Given the description of an element on the screen output the (x, y) to click on. 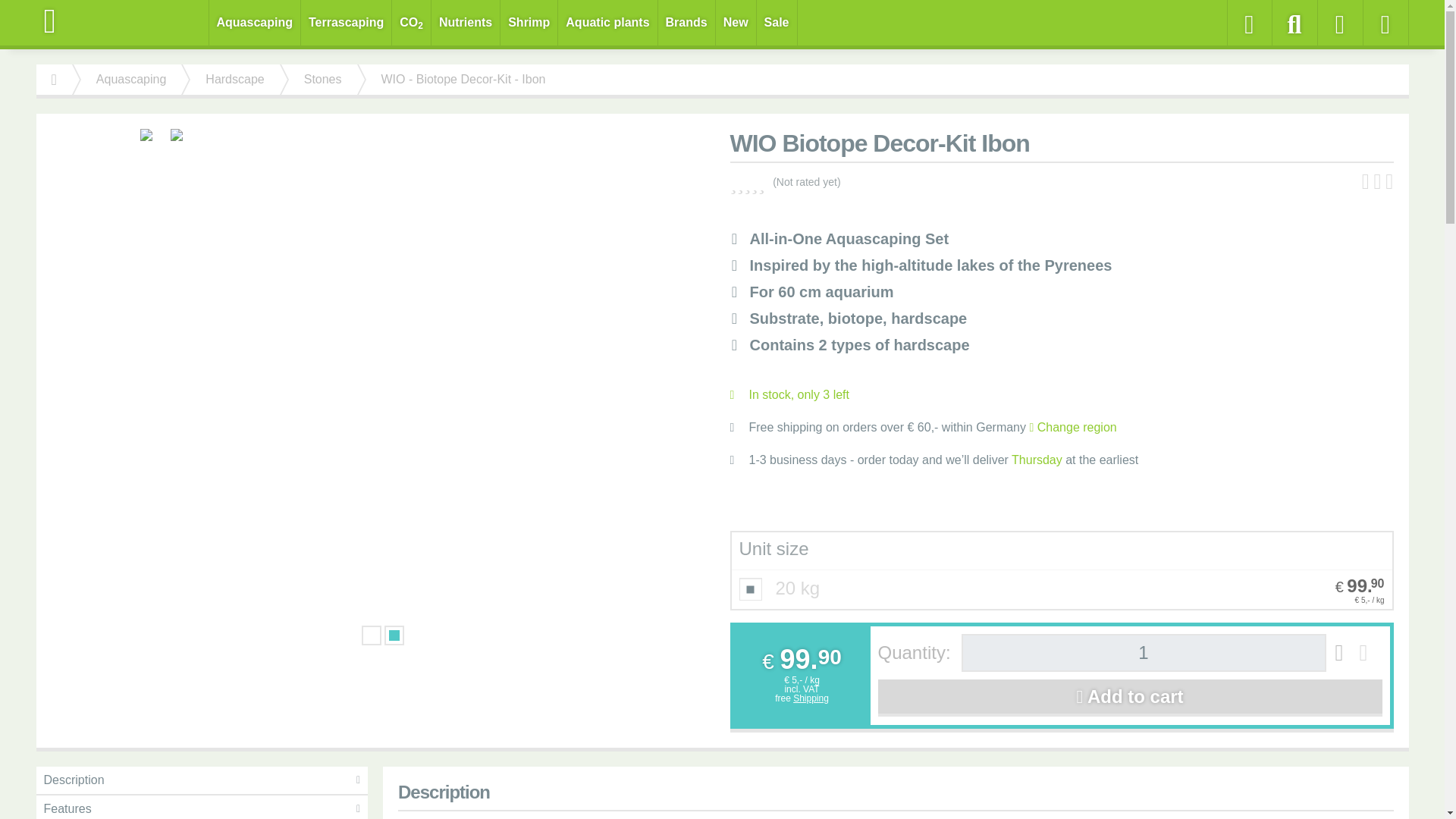
1 (1143, 652)
Aquasabi (123, 21)
Aquascaping (254, 22)
